Given the description of an element on the screen output the (x, y) to click on. 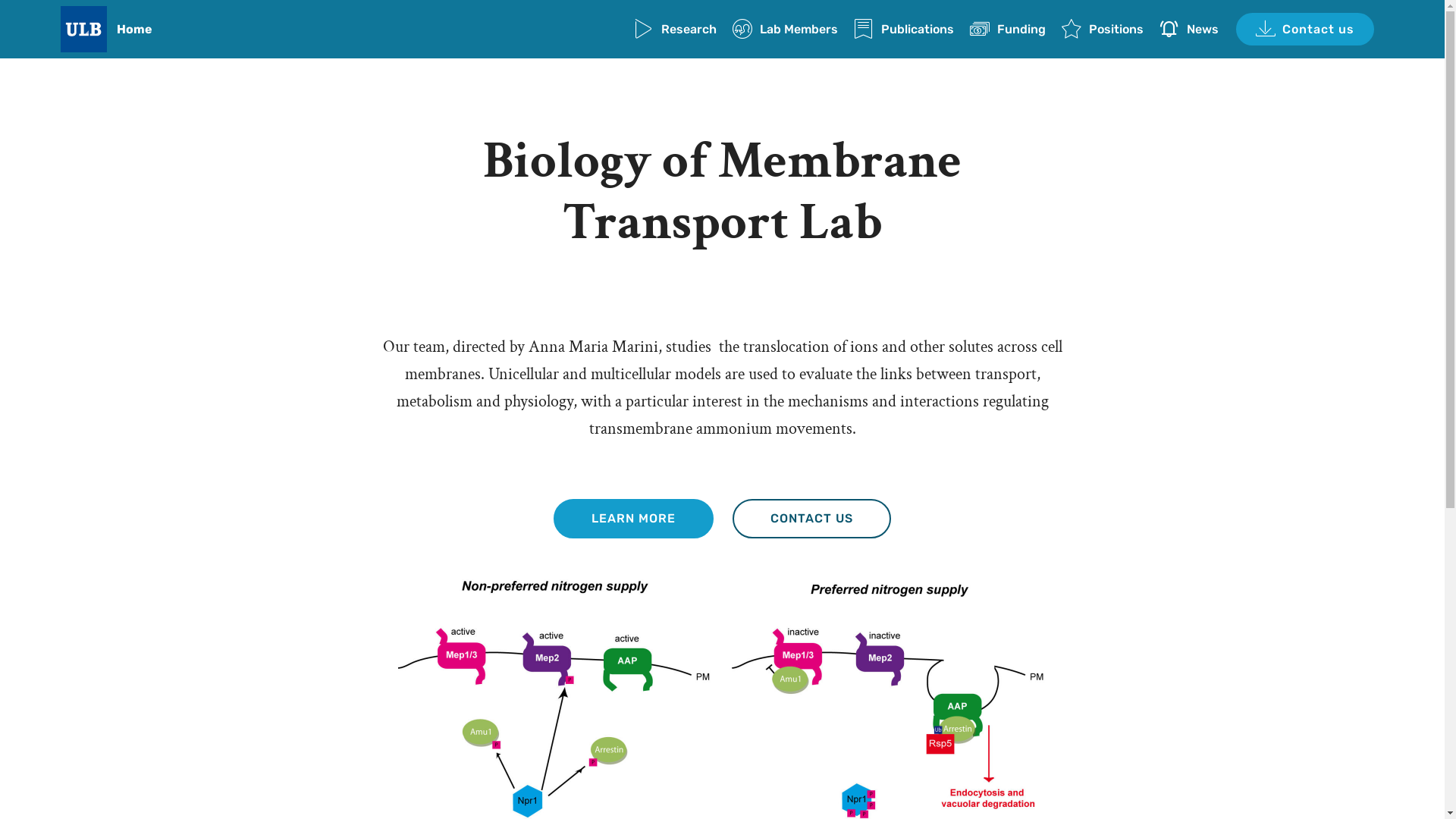
Home Element type: text (146, 28)
Lab Members Element type: text (784, 28)
CONTACT US Element type: text (811, 518)
Funding Element type: text (1007, 28)
Research Element type: text (674, 28)
LEARN MORE Element type: text (633, 518)
Positions Element type: text (1102, 28)
News Element type: text (1188, 28)
Contact us Element type: text (1305, 28)
Publications Element type: text (903, 28)
